Given the description of an element on the screen output the (x, y) to click on. 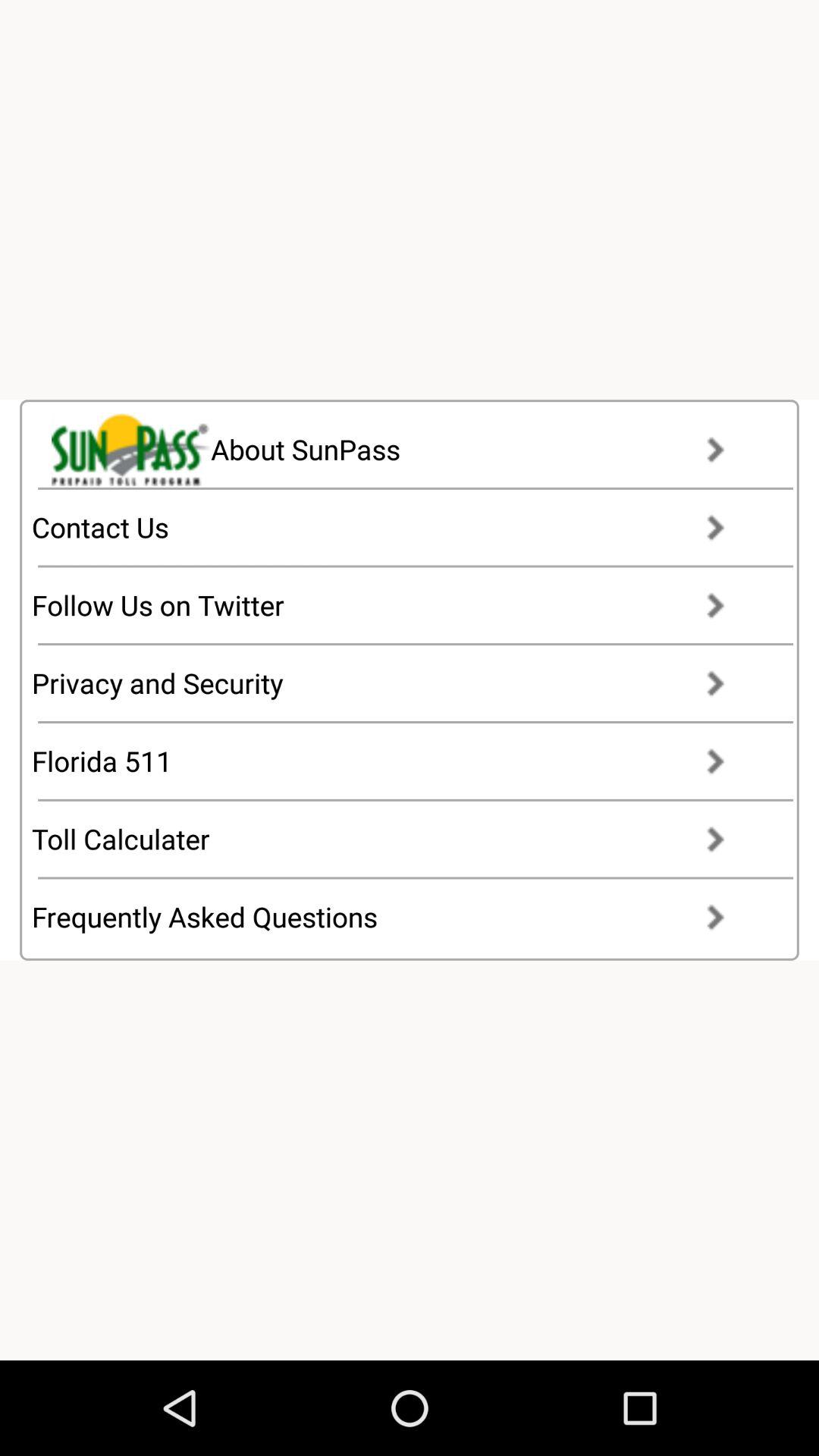
swipe to the frequently asked questions item (392, 916)
